Given the description of an element on the screen output the (x, y) to click on. 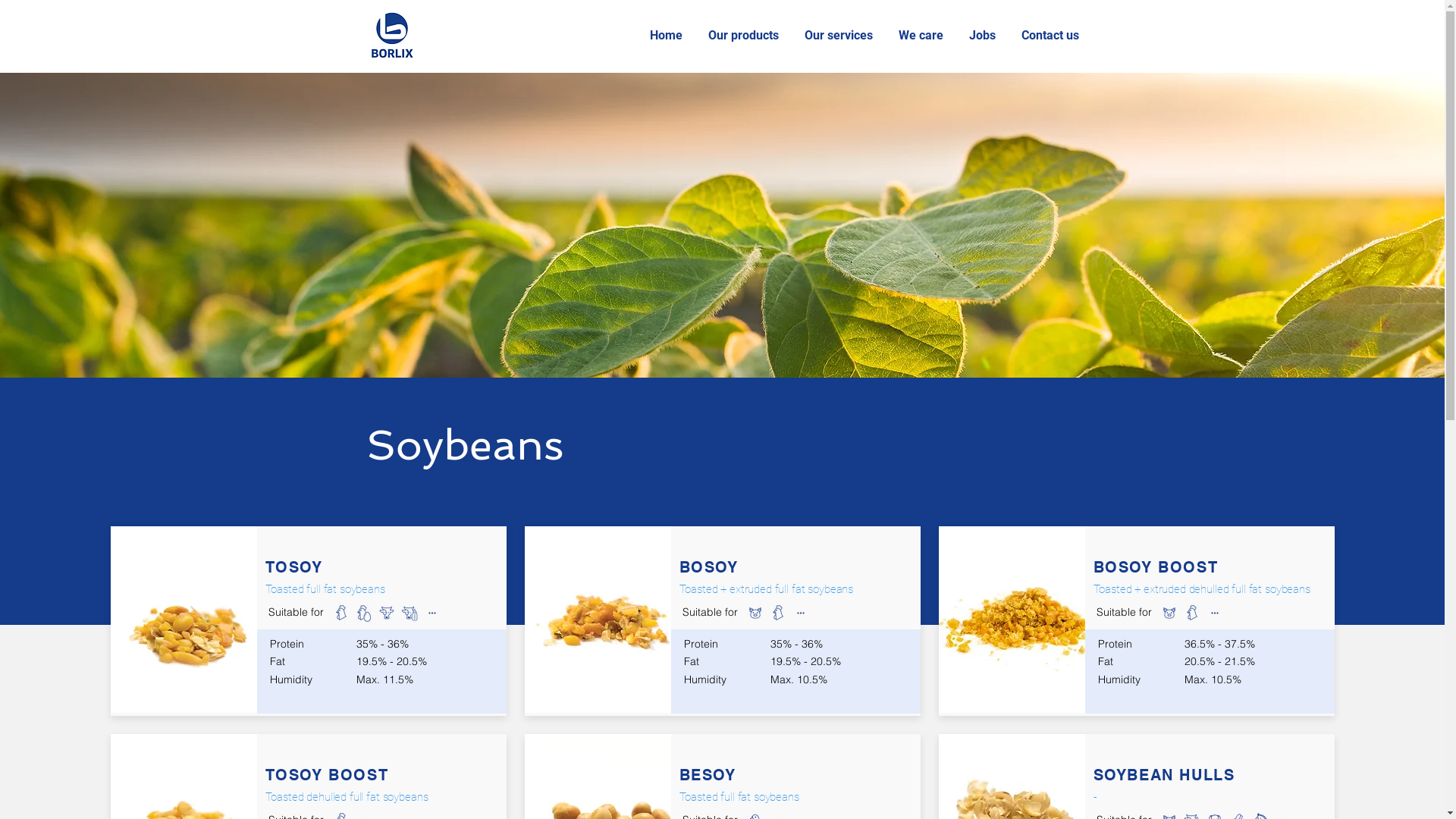
Dairy cows Element type: hover (1236, 611)
Home Element type: text (667, 35)
Piglets Element type: hover (1168, 611)
Cattle Element type: hover (1213, 611)
Piglets Element type: hover (754, 611)
Contact us Element type: text (1051, 35)
Broilers Element type: hover (340, 611)
Dairy cows Element type: hover (408, 611)
Broilers Element type: hover (776, 611)
Cattle Element type: hover (385, 611)
Jobs Element type: text (983, 35)
Broilers Element type: hover (1190, 611)
Our products Element type: text (744, 35)
Cattle Element type: hover (799, 611)
We care Element type: text (922, 35)
Our services Element type: text (840, 35)
Dairy cows Element type: hover (822, 611)
Layers Element type: hover (362, 611)
